Given the description of an element on the screen output the (x, y) to click on. 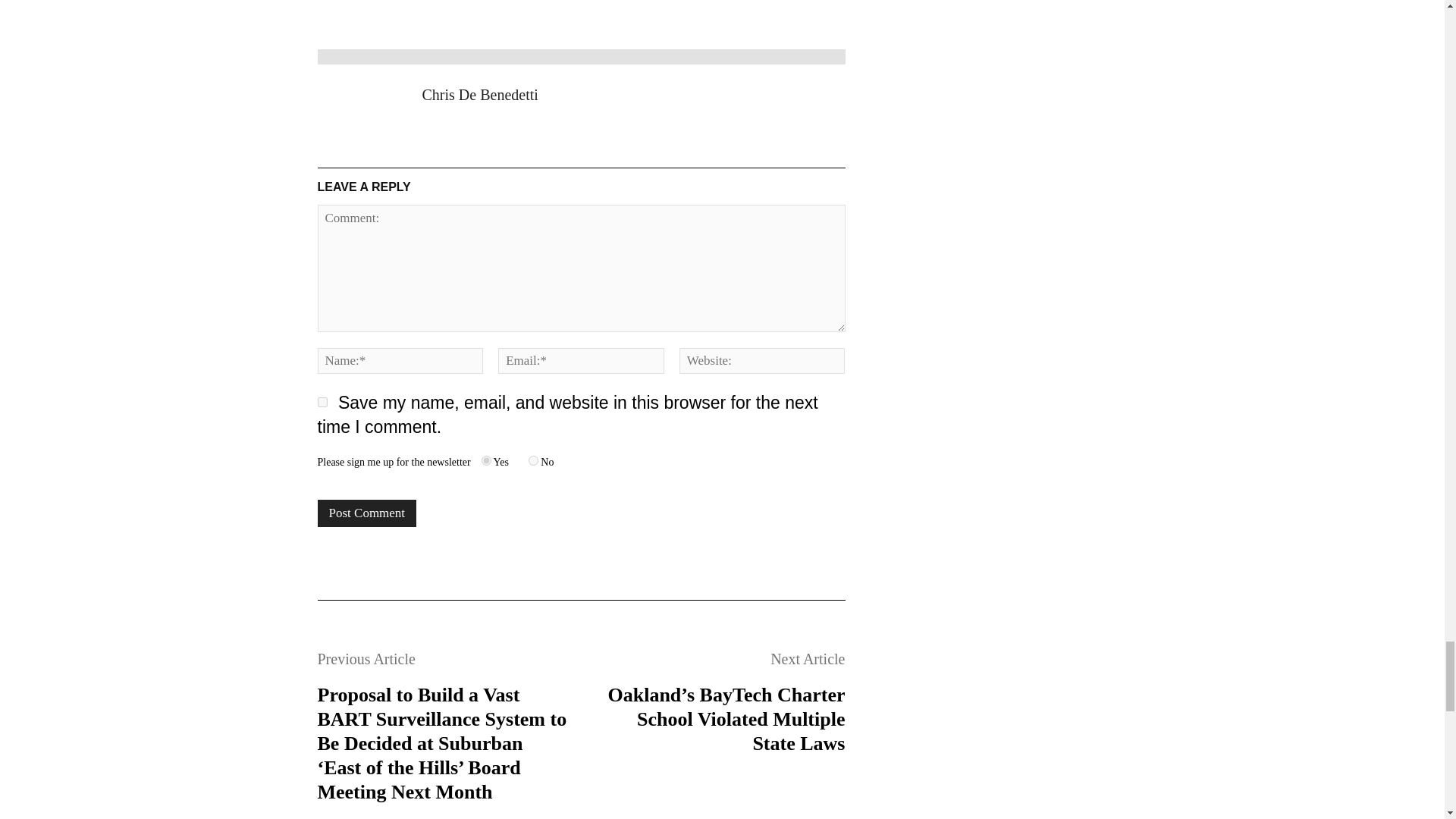
No (533, 460)
yes (321, 402)
Yes (486, 460)
Post Comment (366, 513)
